Given the description of an element on the screen output the (x, y) to click on. 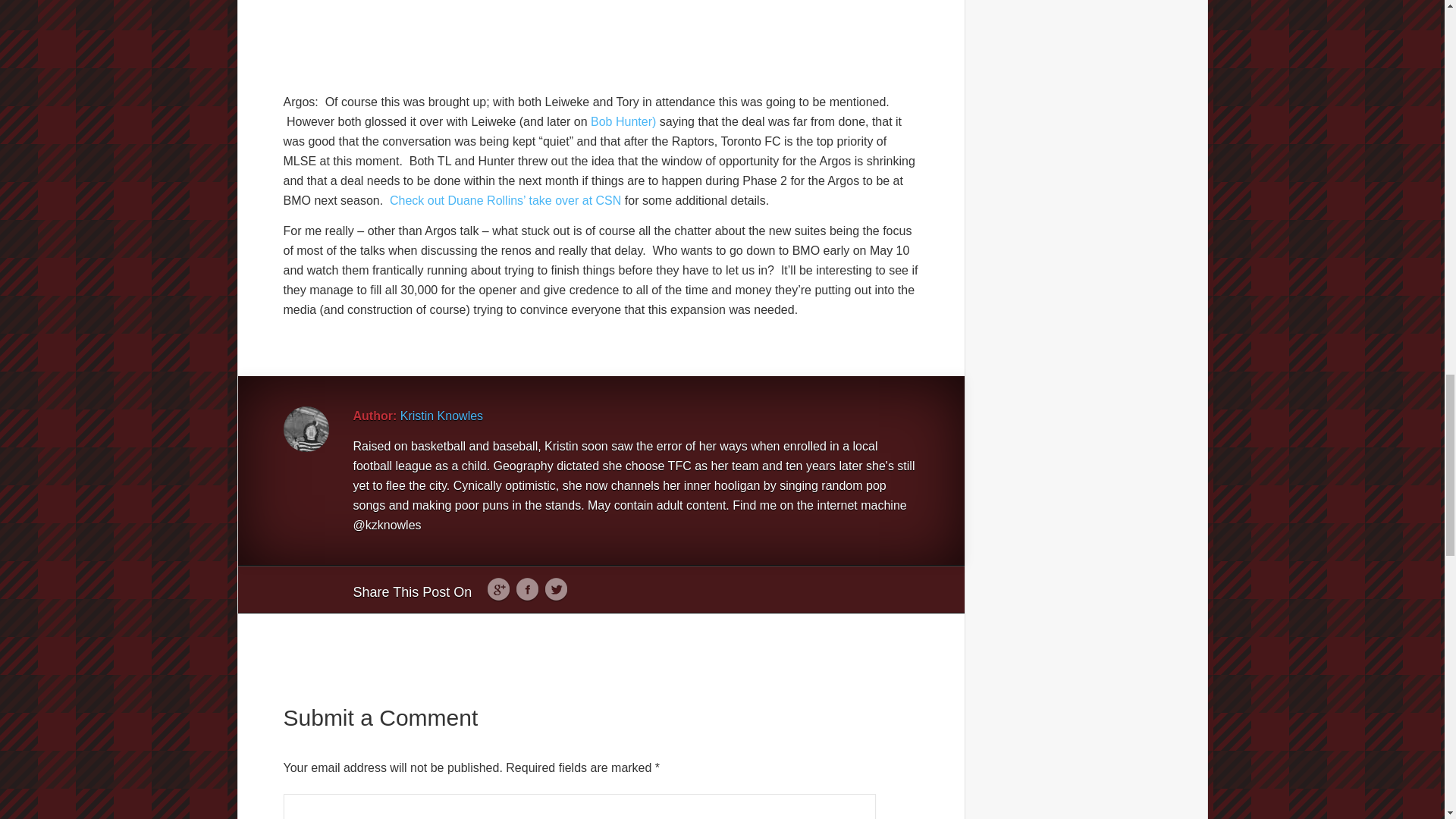
Google (498, 589)
Twitter (555, 589)
Facebook (526, 589)
Kristin Knowles (441, 415)
